Given the description of an element on the screen output the (x, y) to click on. 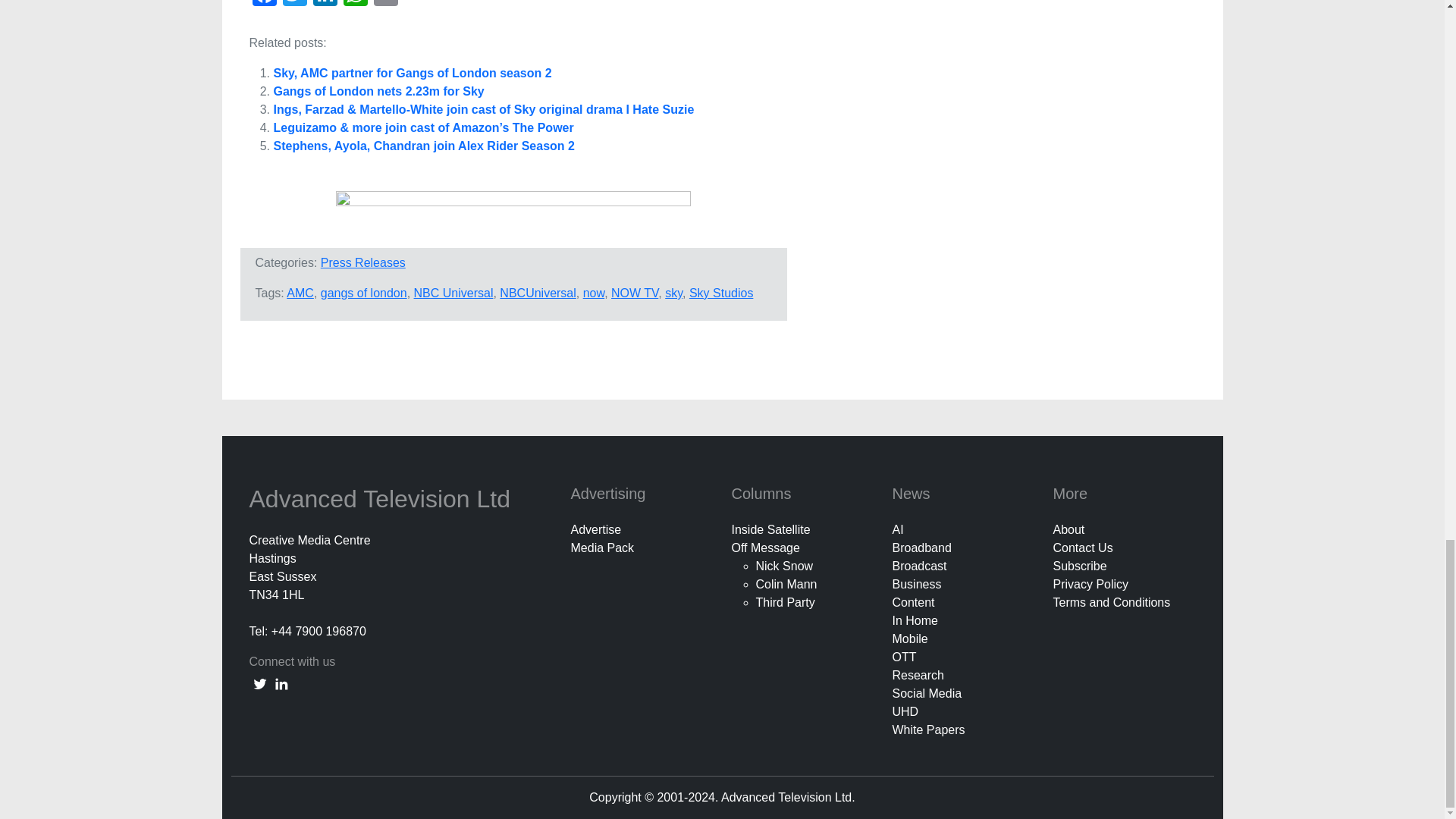
Stephens, Ayola, Chandran join Alex Rider Season 2 (423, 145)
gangs of london (363, 292)
Sky, AMC partner for Gangs of London season 2 (412, 72)
LinkedIn (323, 4)
Gangs of London nets 2.23m for Sky (378, 91)
Email (384, 4)
Press Releases (363, 262)
NBC Universal (453, 292)
Facebook (263, 4)
Facebook (263, 4)
Sky Studios (720, 292)
LinkedIn (323, 4)
Stephens, Ayola, Chandran join Alex Rider Season 2 (423, 145)
AMC (300, 292)
Sky, AMC partner for Gangs of London season 2 (412, 72)
